Given the description of an element on the screen output the (x, y) to click on. 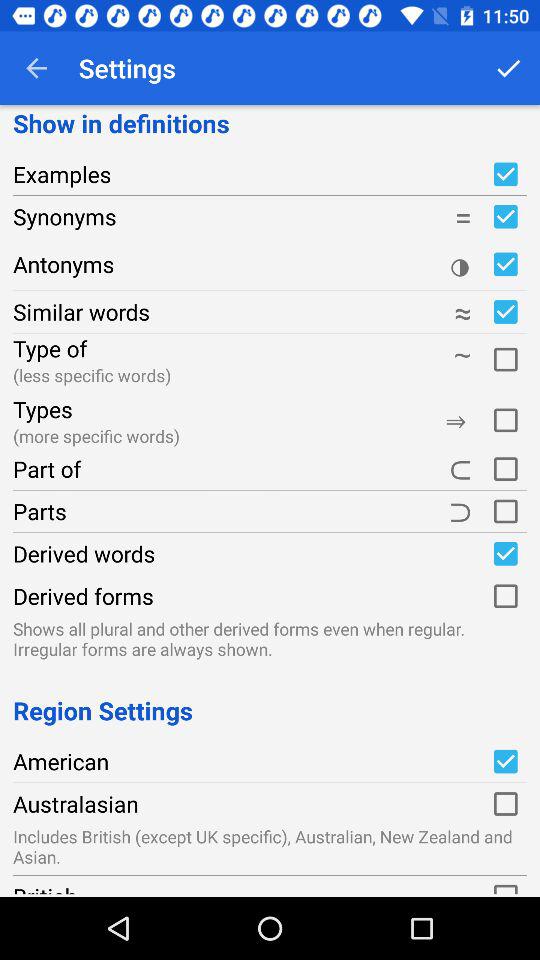
disable synonyms (505, 216)
